Given the description of an element on the screen output the (x, y) to click on. 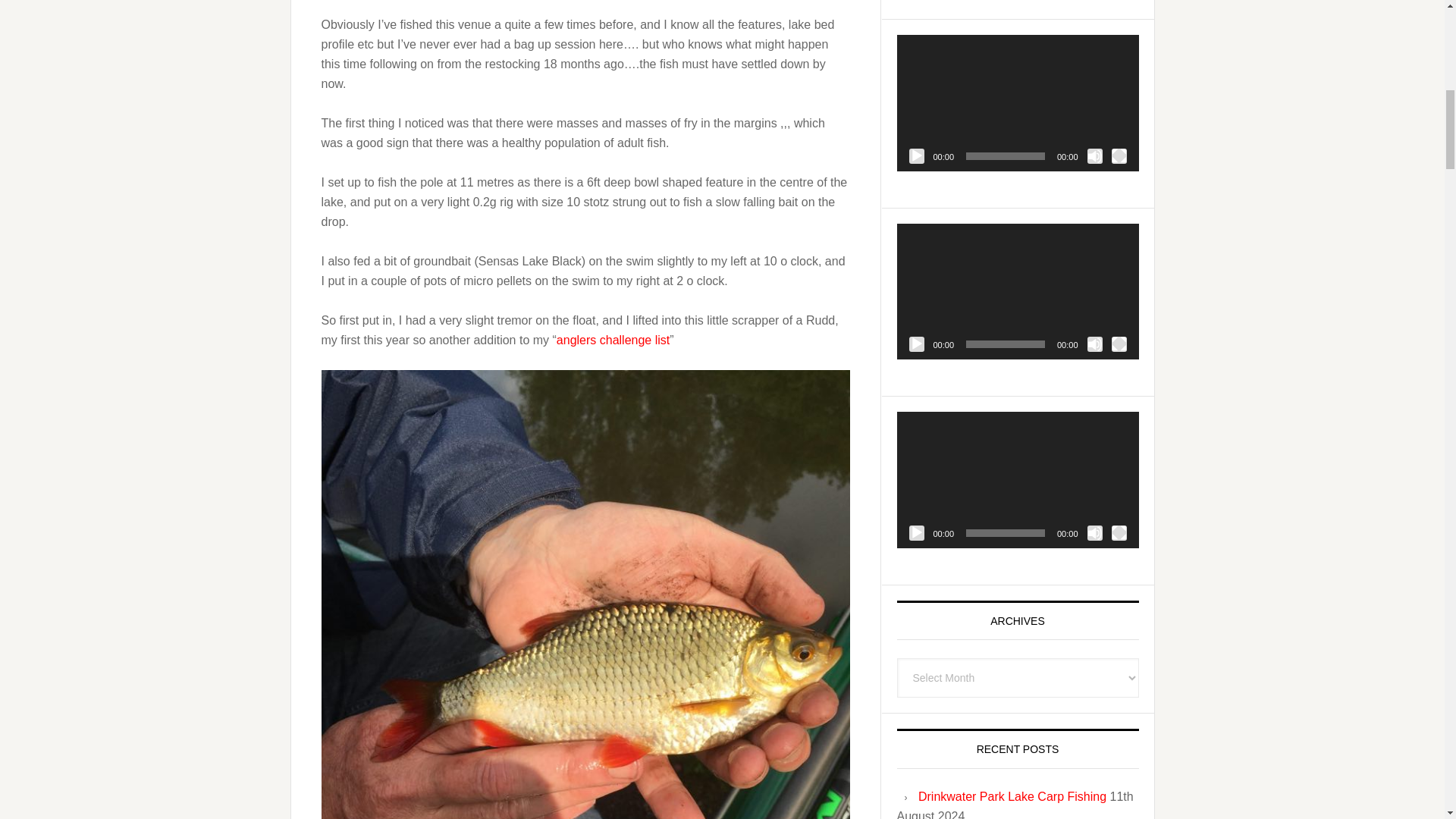
anglers challenge list (612, 339)
Play (915, 344)
Fullscreen (1119, 155)
Mute (1094, 344)
Play (915, 155)
Mute (1094, 155)
